Given the description of an element on the screen output the (x, y) to click on. 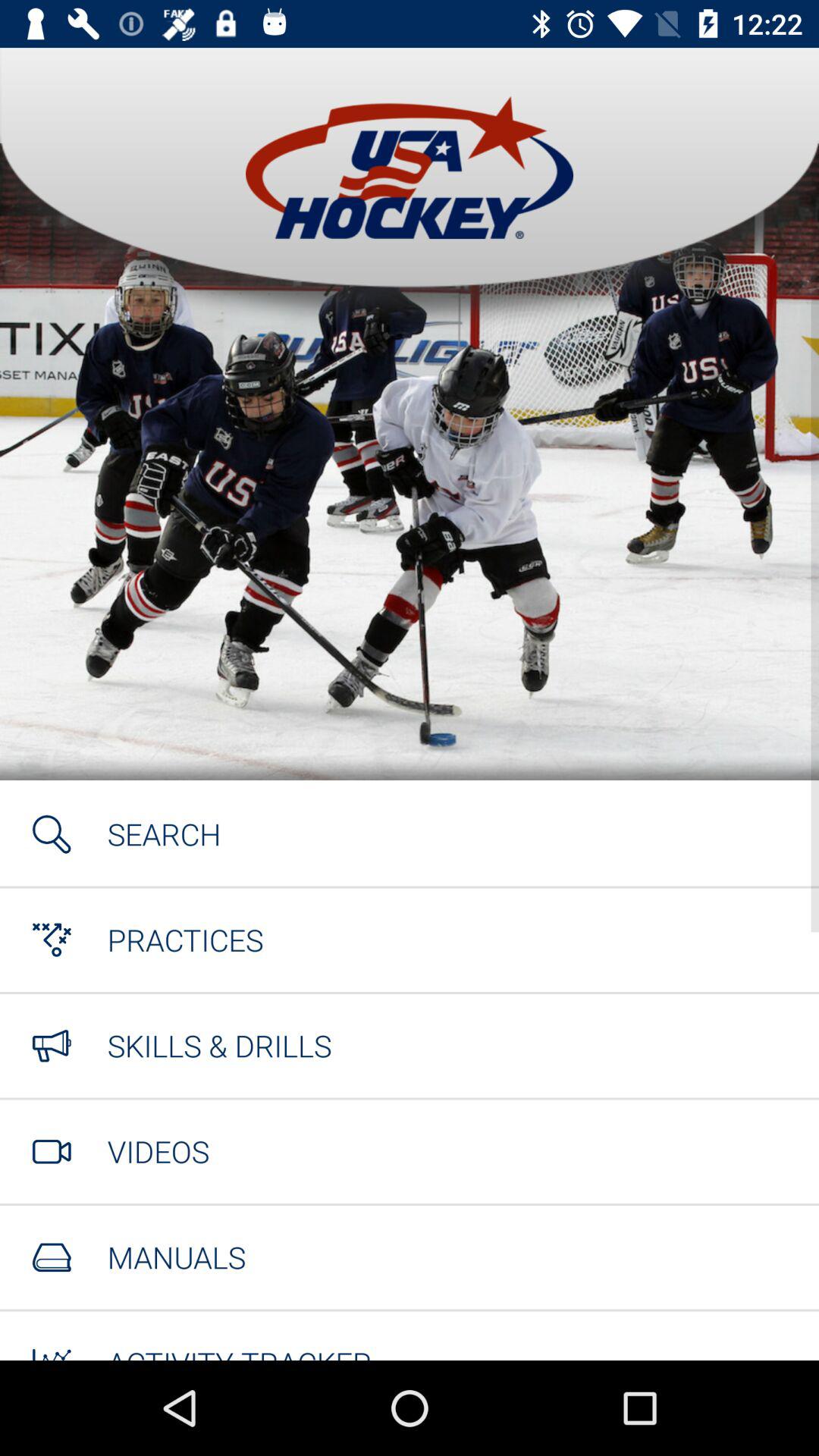
choose the item at the center (409, 764)
